Given the description of an element on the screen output the (x, y) to click on. 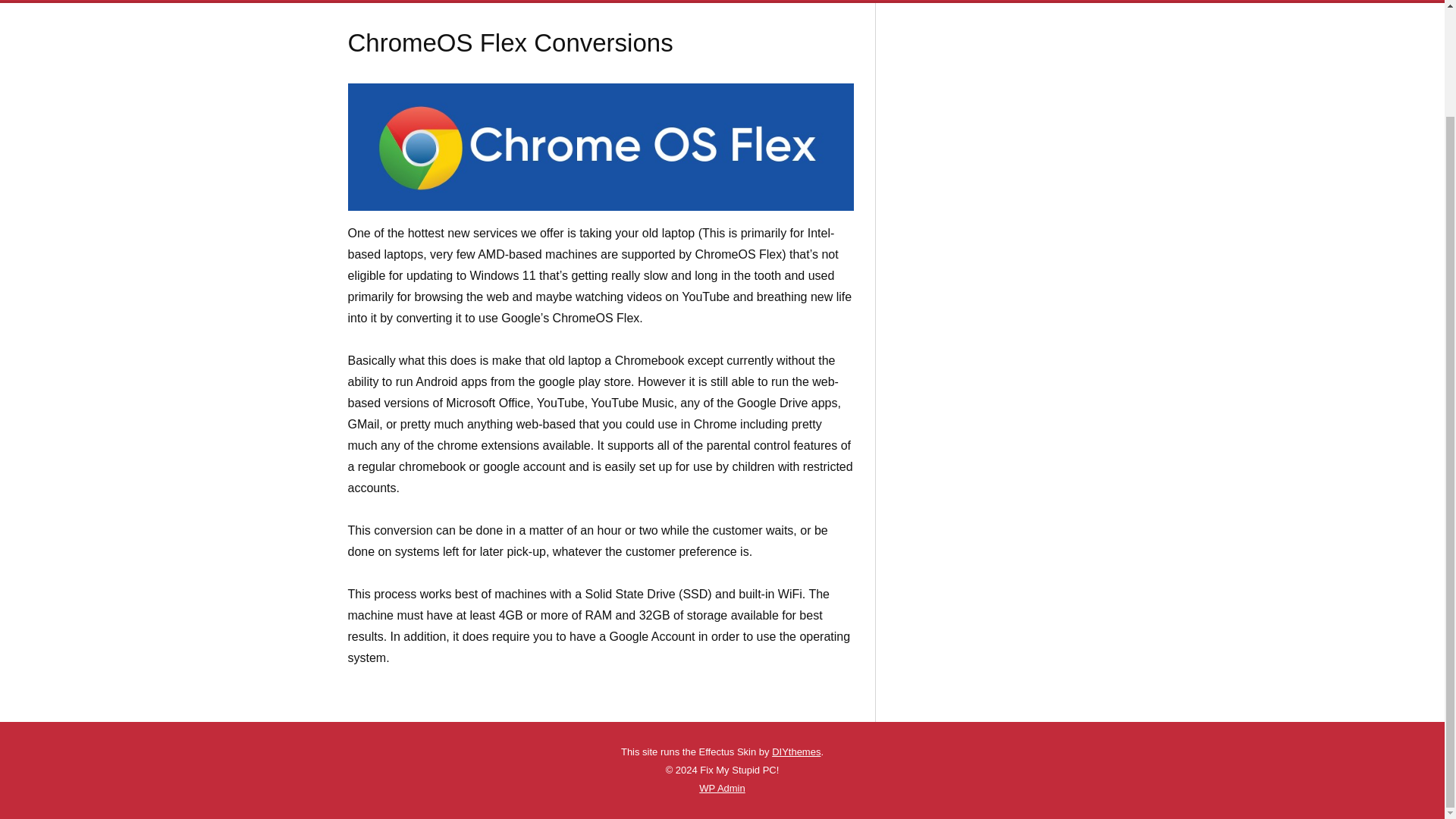
Shop (841, 0)
Articles (546, 0)
Checkout (935, 0)
Cart (883, 0)
WordPress (706, 787)
Home (430, 0)
WP Admin (721, 787)
About Us (485, 0)
DIYthemes (796, 751)
Solutions (680, 0)
My account (1002, 0)
